Given the description of an element on the screen output the (x, y) to click on. 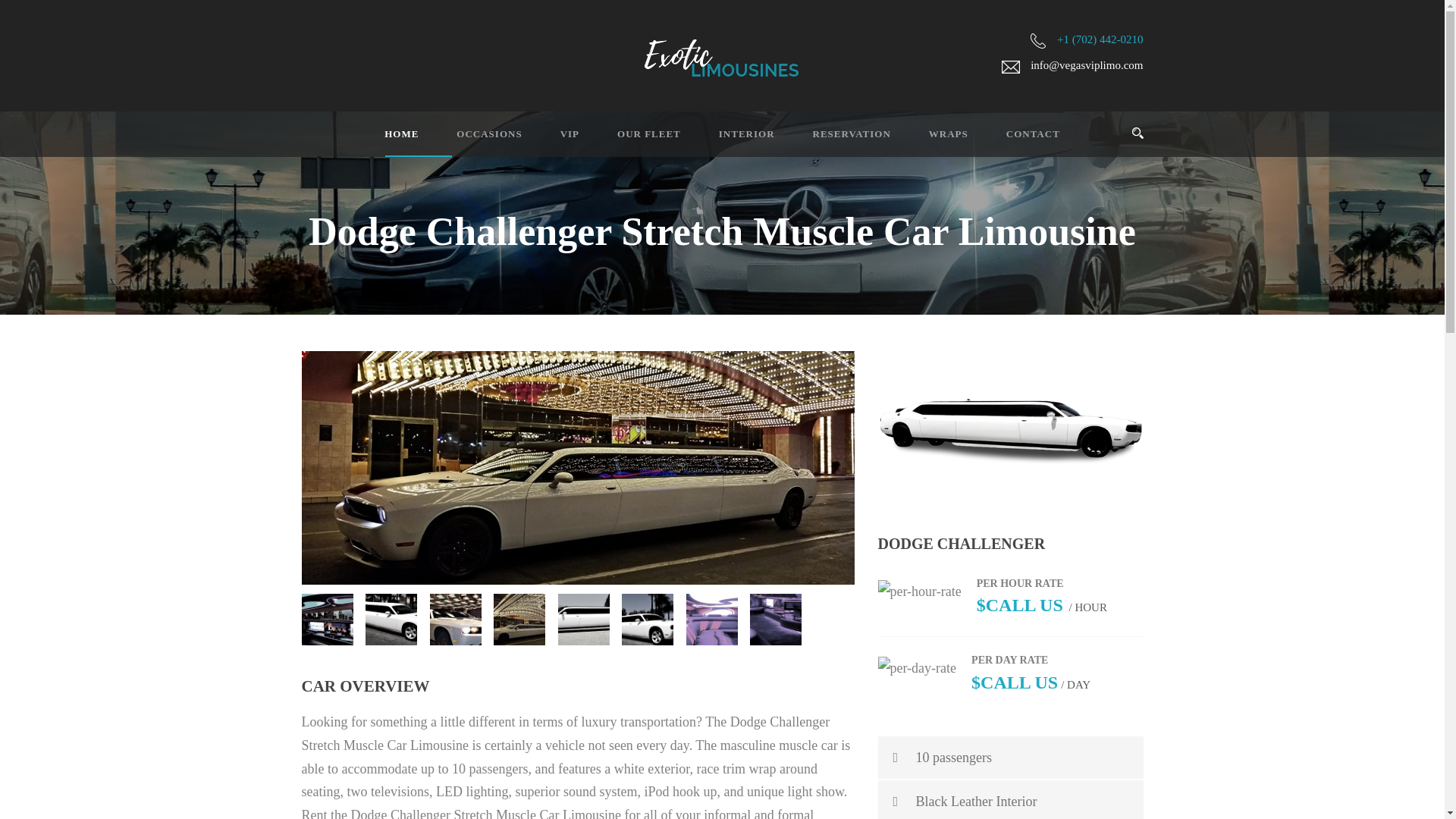
VIP (550, 141)
RESERVATION (832, 141)
OCCASIONS (470, 141)
WRAPS (929, 141)
CONTACT (1013, 141)
OUR FLEET (630, 141)
HOME (392, 141)
INTERIOR (727, 141)
